Given the description of an element on the screen output the (x, y) to click on. 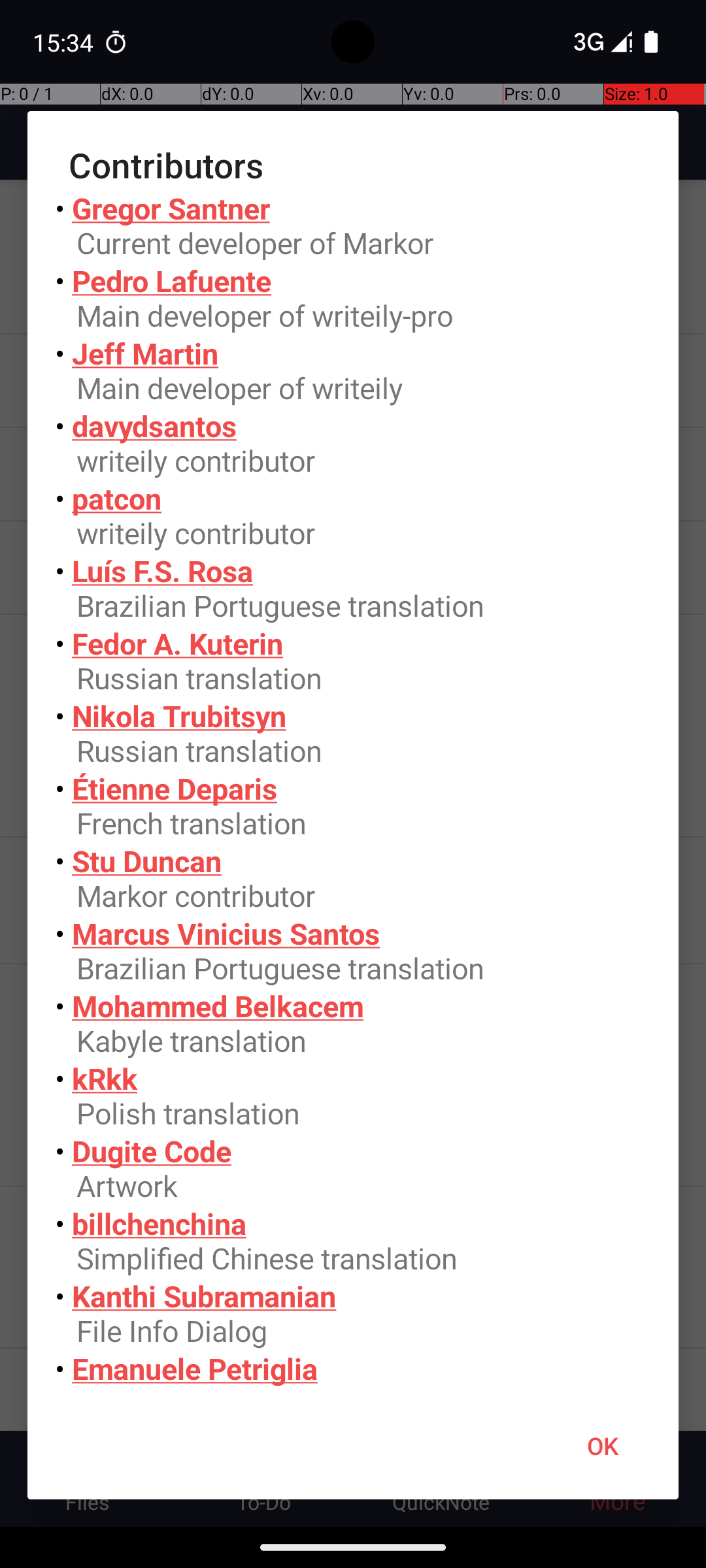
• Gregor Santner
   Current developer of Markor
• Pedro Lafuente
   Main developer of writeily-pro
• Jeff Martin
   Main developer of writeily
• davydsantos
   writeily contributor
• patcon
   writeily contributor
• Luís F.S. Rosa
   Brazilian Portuguese translation
• Fedor A. Kuterin
   Russian translation
• Nikola Trubitsyn
   Russian translation
• Étienne Deparis
   French translation
• Stu Duncan
   Markor contributor
• Marcus Vinicius Santos
   Brazilian Portuguese translation
• Mohammed Belkacem
   Kabyle translation
• kRkk
   Polish translation
• Dugite Code
   Artwork
• billchenchina
   Simplified Chinese translation
• Kanthi Subramanian
   File Info Dialog
• Emanuele Petriglia
   Italian translation
• Tiago Danin
   Brazilian Portuguese translation
• Jesica Chu
   Spanish and Traiditonal Chinese translation
• Ankush S Shetkar
   Added Chrome custom tabs for urls
• Lars Pontoppidan
   Danish translation
• Amaya Lim
   Improve project description
• Jawkwon Im
   Add keep screen on
• Mark Goldman
   Added sorting for todo.txt, improved wiki
• natanelho
   Hebrew translation
• Alexander Sachse
   Added simple word counter
• Kyle Phelps
   Added functionality to share multiple files from file browser
• Vladislav Glinsky
   Ukrainian/Russian translations
• David Hebbeker
   Added tooltips for text actions.
• Harshad Srinivasan
   Added functionality to handle leading spaces in lists.
• Niels
   Added encryption for textfile contents.
• Helguli
   Added fast scroll to editor.
• Patricia Heimfarth
   Added checkbox for todo completion date
• Peter Schwede
   Added Zim-Wiki support.
• Frederic Jacob
   Added Zim-Wiki highlighting, text actions, view mode, page creation.
• Winston Feng
   Support spaces in URL.
• k3b
   Added CSV-Support.
 Element type: android.widget.TextView (352, 790)
